Given the description of an element on the screen output the (x, y) to click on. 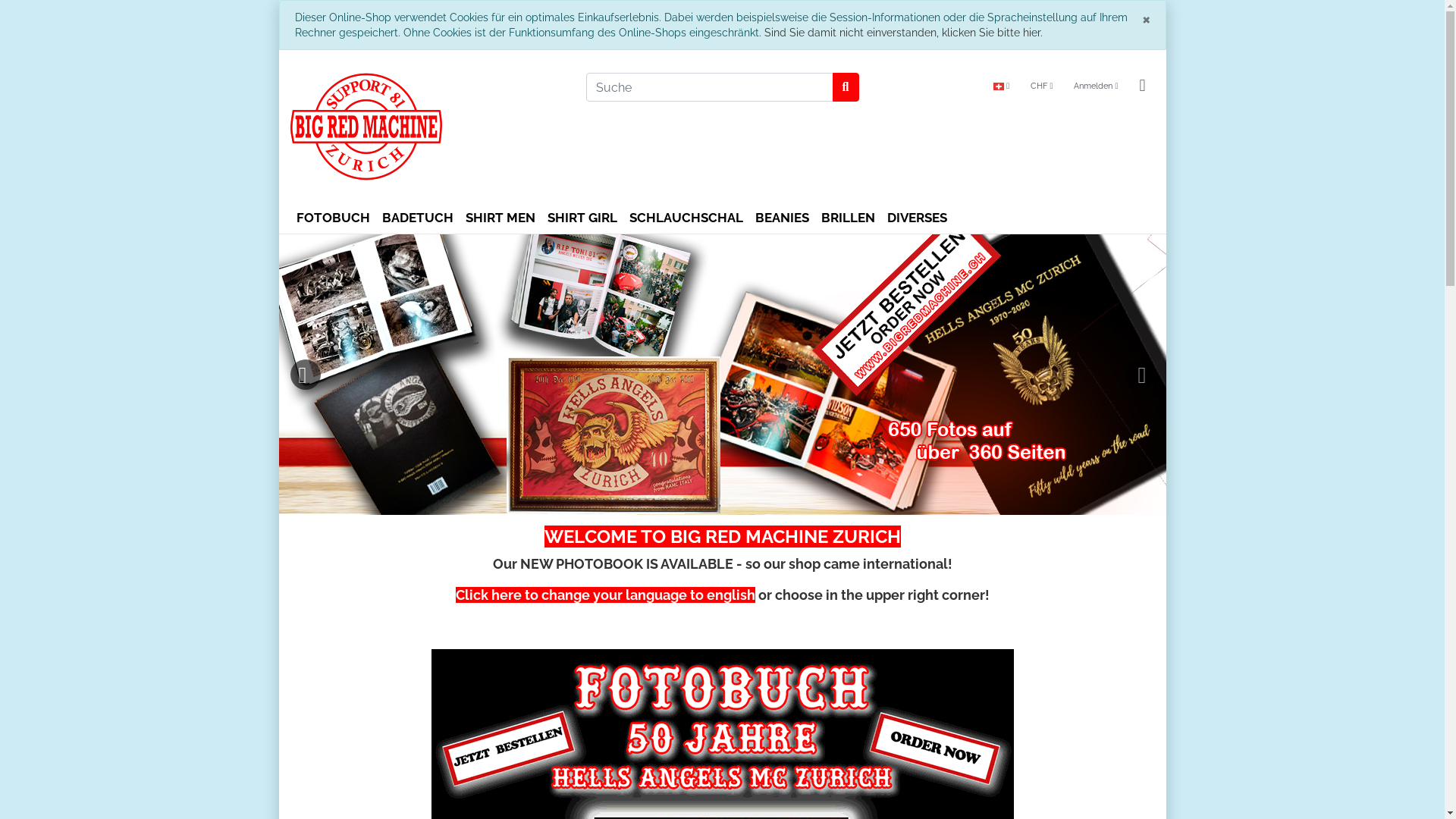
SHIRT GIRL Element type: text (582, 218)
FOTOBUCH Element type: text (332, 218)
CHF Element type: text (1041, 86)
SCHLAUCHSCHAL Element type: text (686, 218)
Previous Element type: text (304, 374)
DIVERSES Element type: text (917, 218)
FOTOBUCH 50 JAHRE HAMC ZURICH Element type: hover (923, 374)
Next Element type: text (1138, 374)
BRILLEN Element type: text (847, 218)
FOTOBUCH 50 JAHRE HAMC ZURICH Element type: hover (873, 374)
Click here to change your language to english Element type: text (604, 594)
BADETUCH Element type: text (417, 218)
Anmelden Element type: text (1095, 86)
SHIRT MEN Element type: text (500, 218)
Sind Sie damit nicht einverstanden, klicken Sie bitte hier. Element type: text (903, 32)
BEANIES Element type: text (782, 218)
Suchen Element type: hover (845, 86)
Big Red Machine Zurich Element type: hover (425, 126)
